Given the description of an element on the screen output the (x, y) to click on. 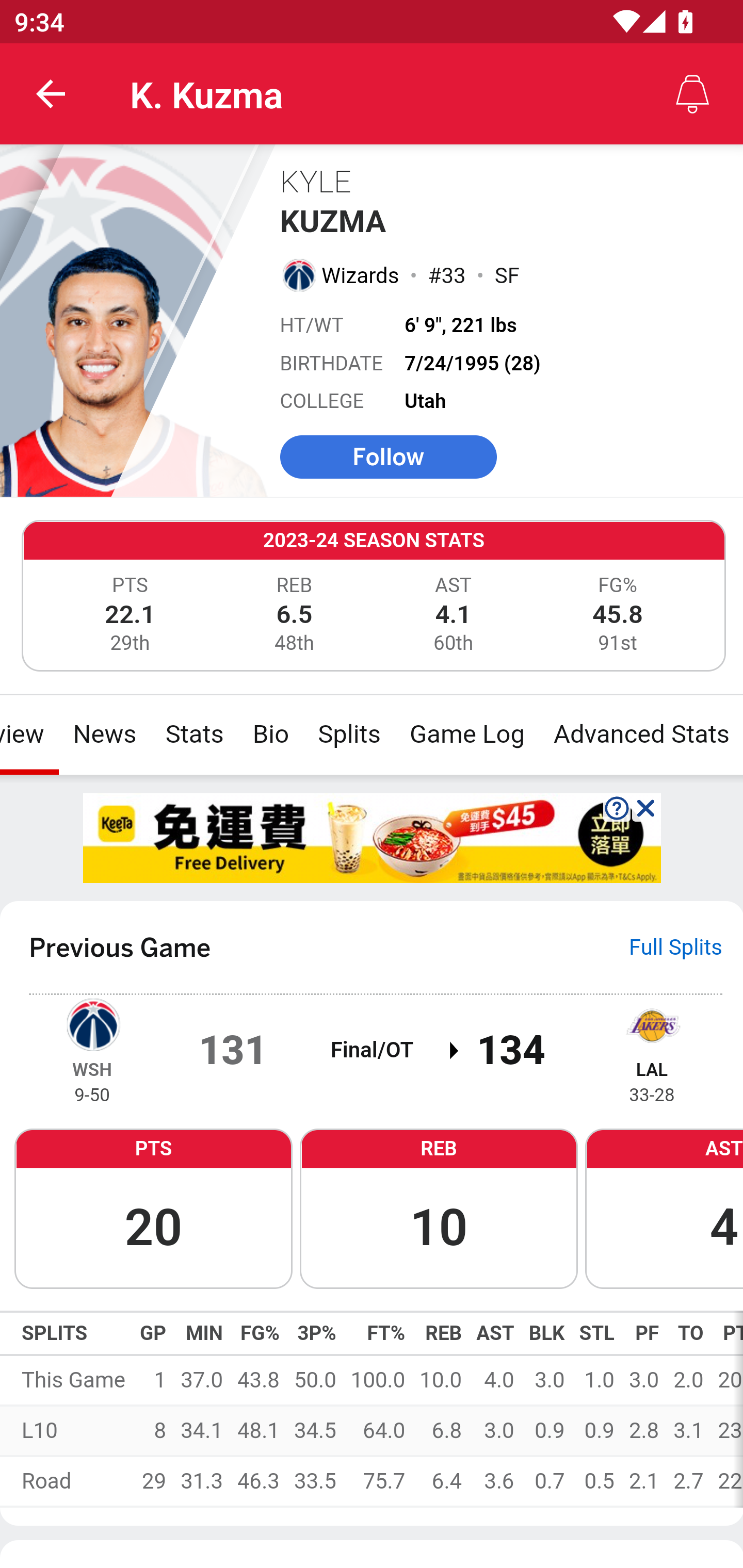
back.button (50, 93)
Alerts (692, 93)
Washington Wizards (297, 274)
Wizards (361, 274)
Utah (426, 401)
Follow (387, 455)
Overview (29, 734)
News (104, 734)
Stats (193, 734)
Bio (270, 734)
Splits (349, 734)
Game Log (466, 734)
Advanced Stats (640, 734)
Full Splits (675, 946)
Washington Wizards (91, 1022)
Los Angeles Lakers (651, 1022)
PTS 20 (153, 1206)
REB 10 (438, 1206)
